Given the description of an element on the screen output the (x, y) to click on. 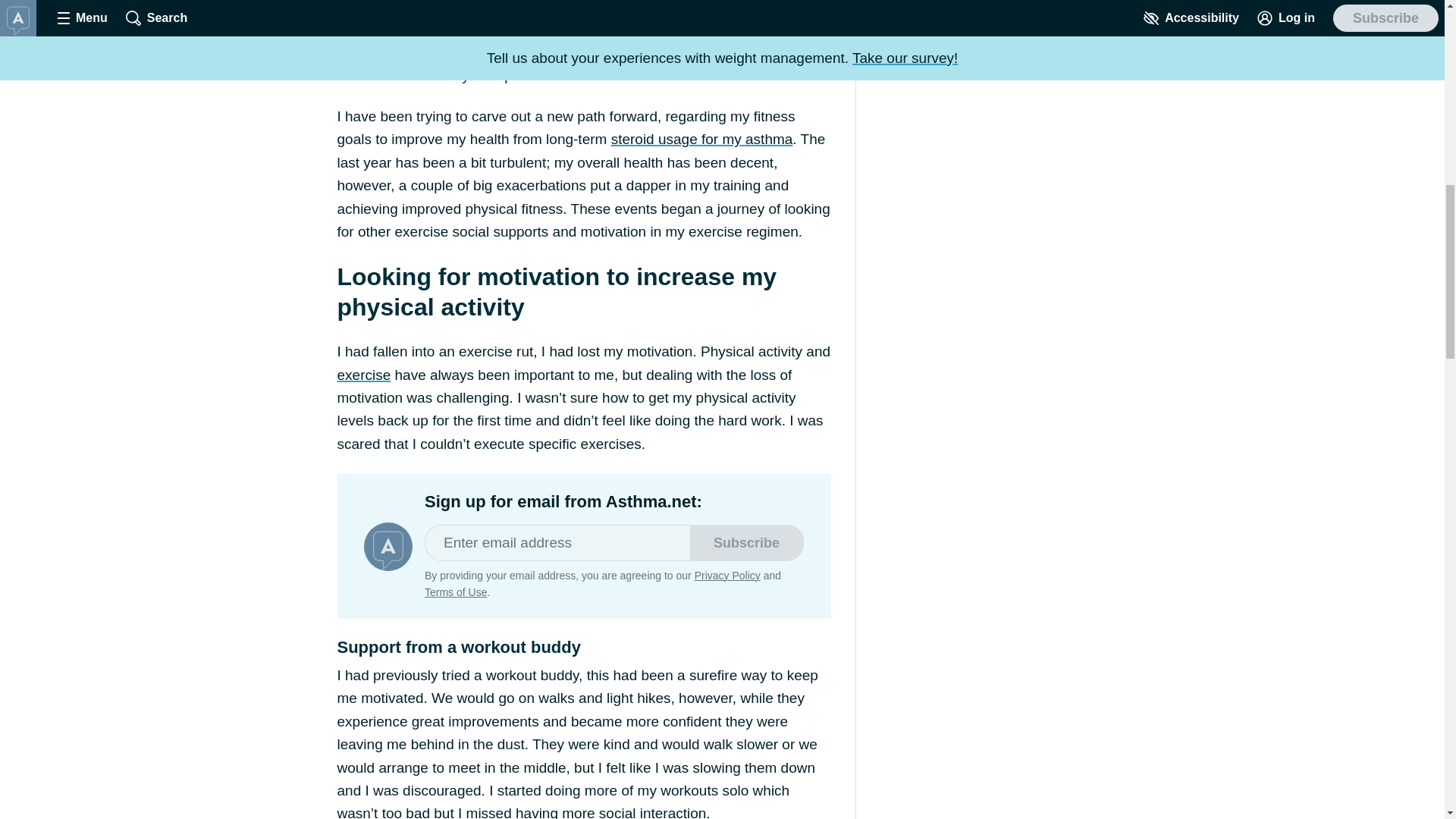
Terms of Use (455, 592)
Privacy Policy (727, 575)
steroid usage for my asthma (702, 139)
Subscribe (746, 542)
exercise (363, 374)
